Given the description of an element on the screen output the (x, y) to click on. 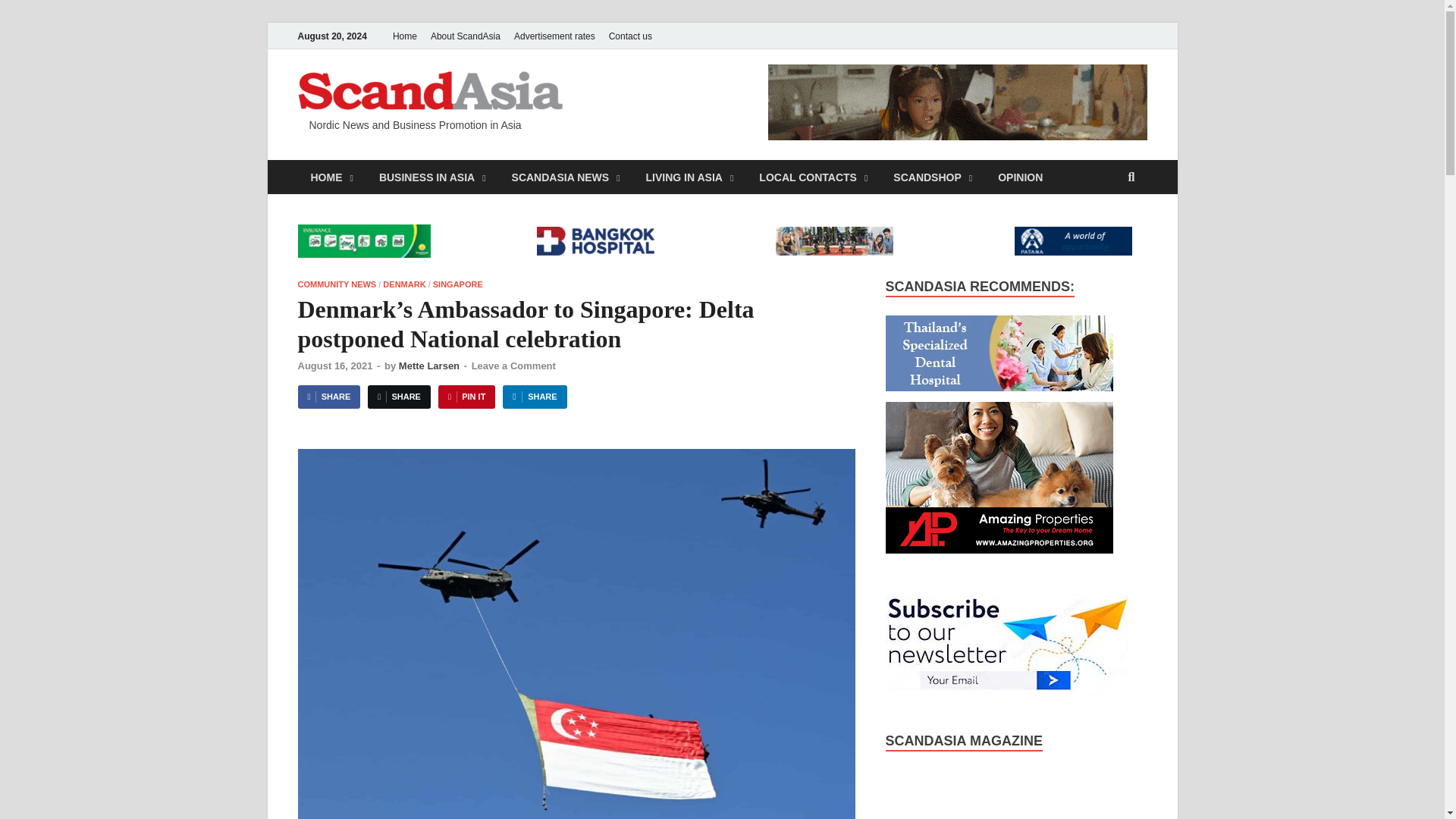
HOME (331, 176)
About ScandAsia (464, 35)
Contact us (630, 35)
Advertisement rates (554, 35)
Home (404, 35)
BUSINESS IN ASIA (432, 176)
